Given the description of an element on the screen output the (x, y) to click on. 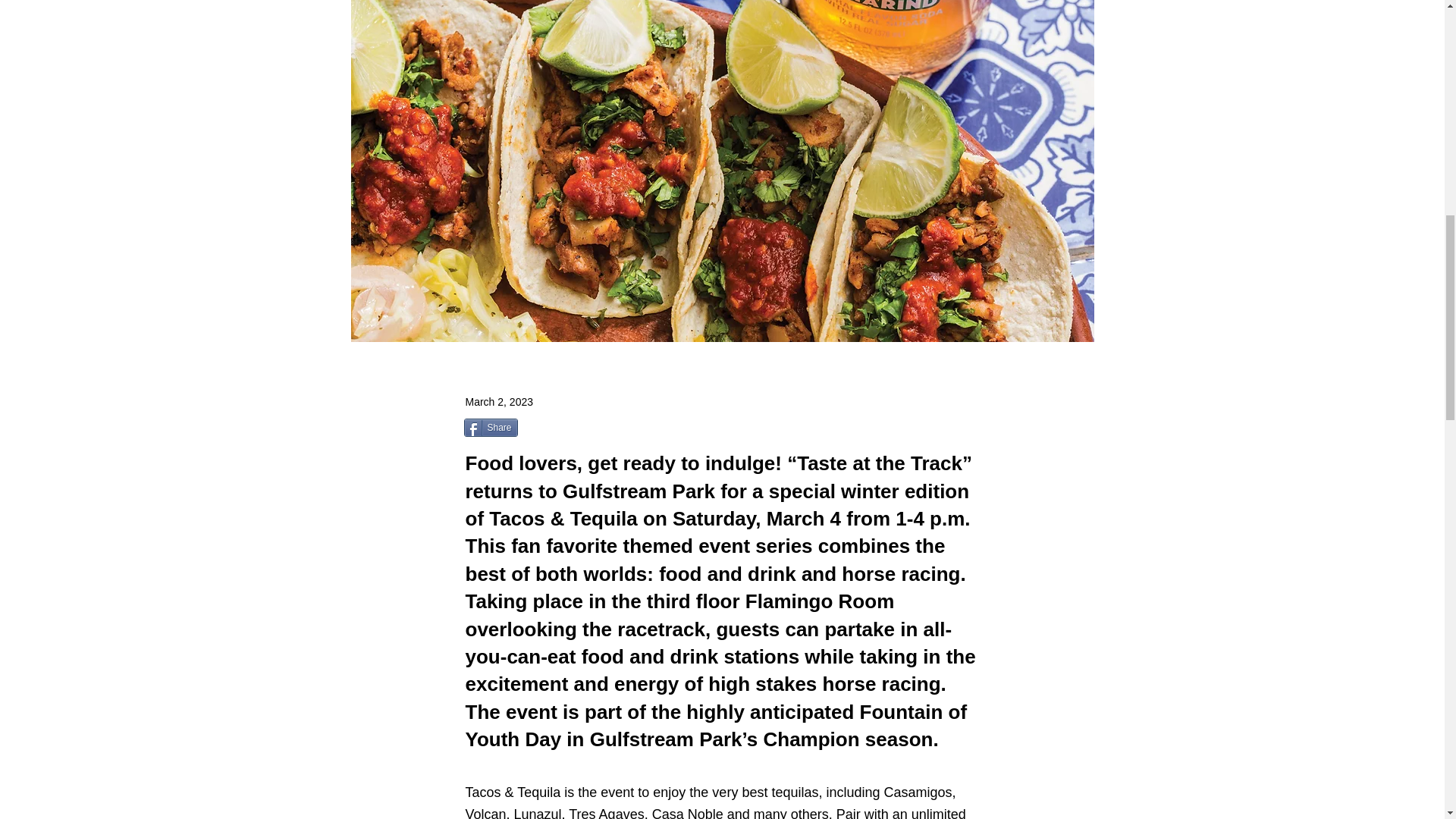
Share (491, 427)
Twitter Tweet (557, 428)
Share (491, 427)
